Given the description of an element on the screen output the (x, y) to click on. 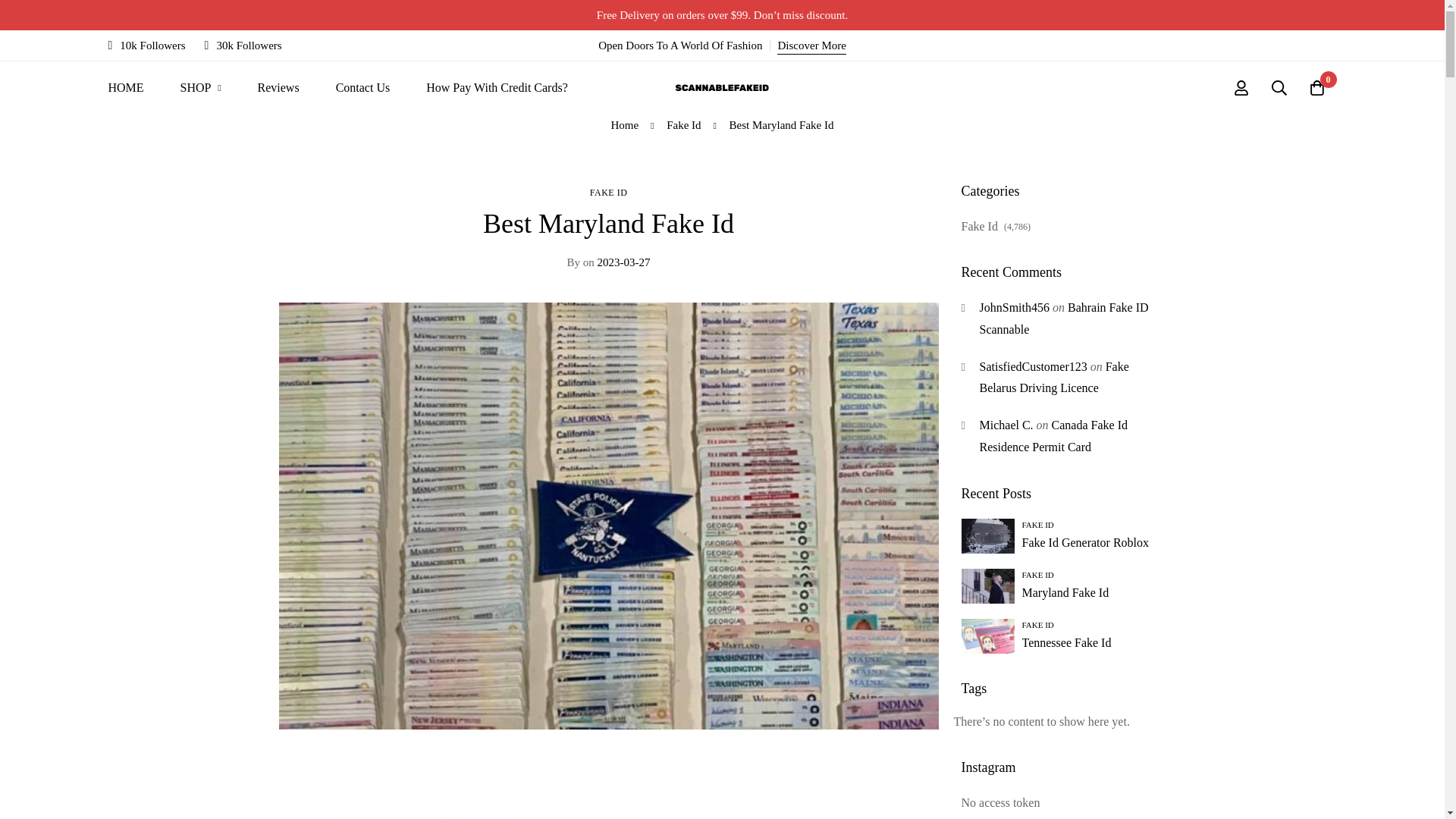
Reviews (278, 87)
HOME (125, 87)
Discover More (811, 45)
0 (1317, 87)
Home (625, 125)
SHOP (200, 87)
Contact Us (362, 87)
By (572, 261)
Fake Id (683, 125)
How Pay With Credit Cards? (497, 87)
FAKE ID (608, 192)
